Given the description of an element on the screen output the (x, y) to click on. 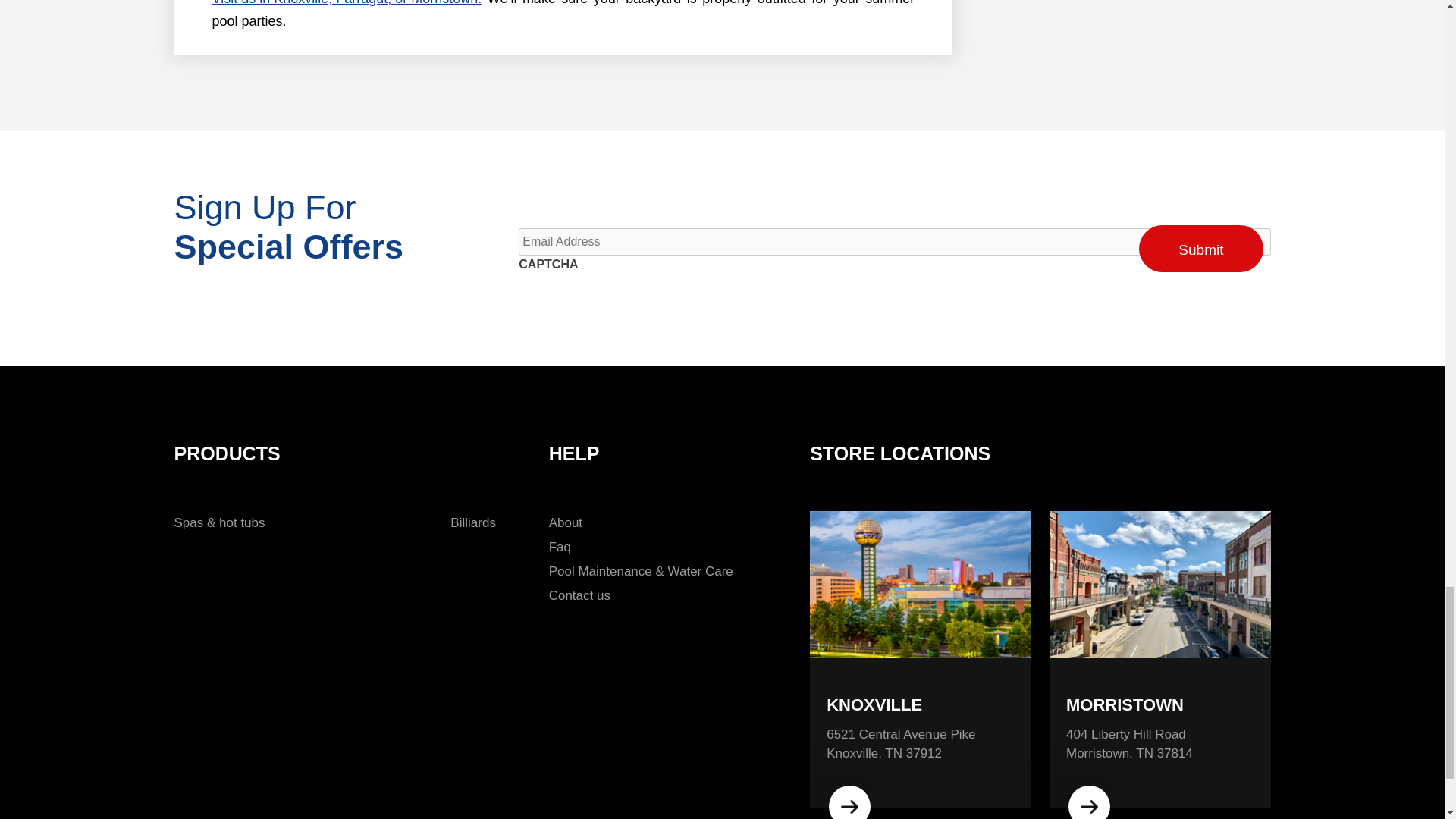
Submit (1200, 248)
Visit us in Knoxville, Farragut, or Morristown. (346, 4)
Submit (1200, 248)
